Given the description of an element on the screen output the (x, y) to click on. 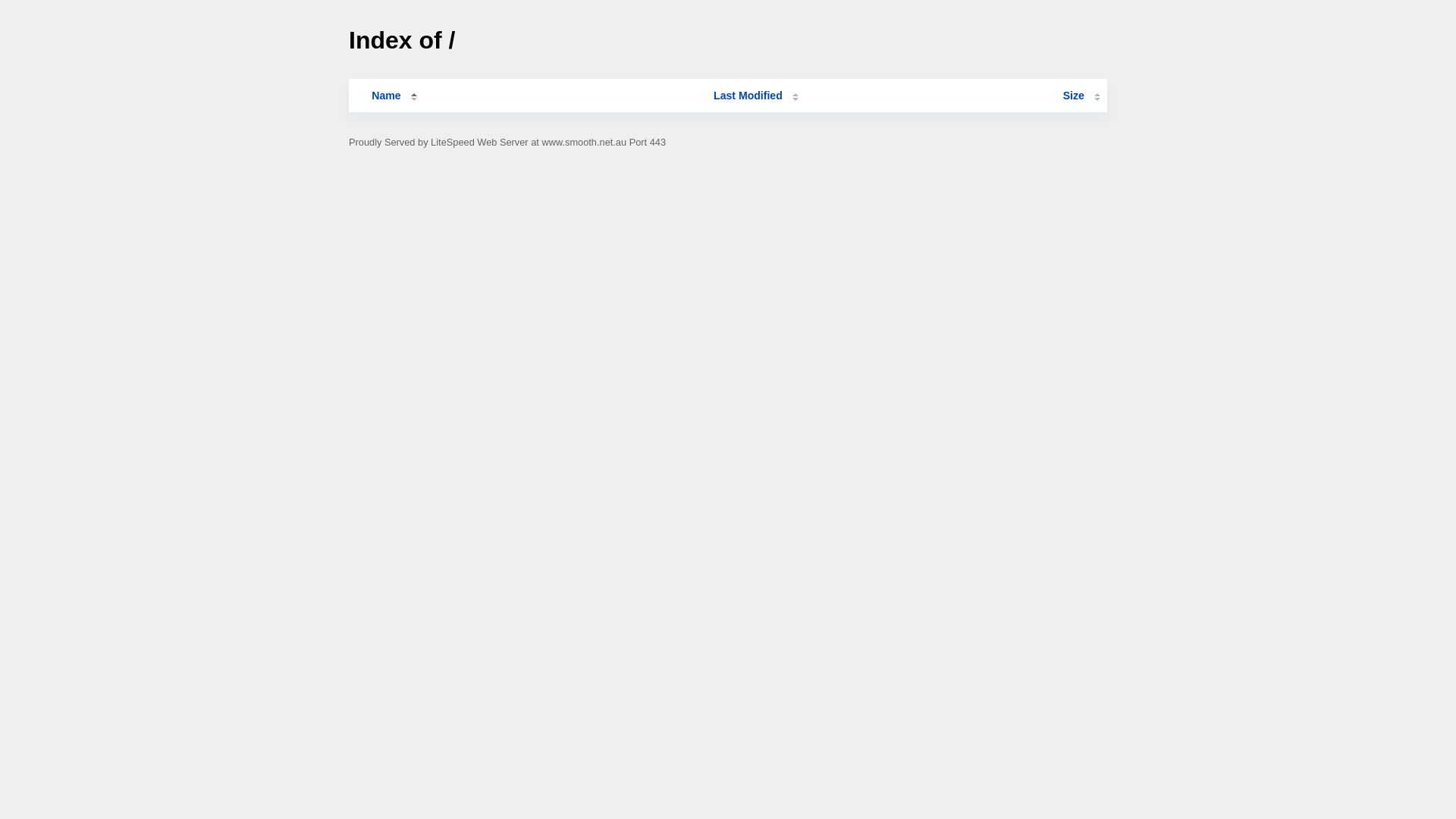
Name Element type: text (385, 95)
Size Element type: text (1081, 95)
Last Modified Element type: text (755, 95)
